Given the description of an element on the screen output the (x, y) to click on. 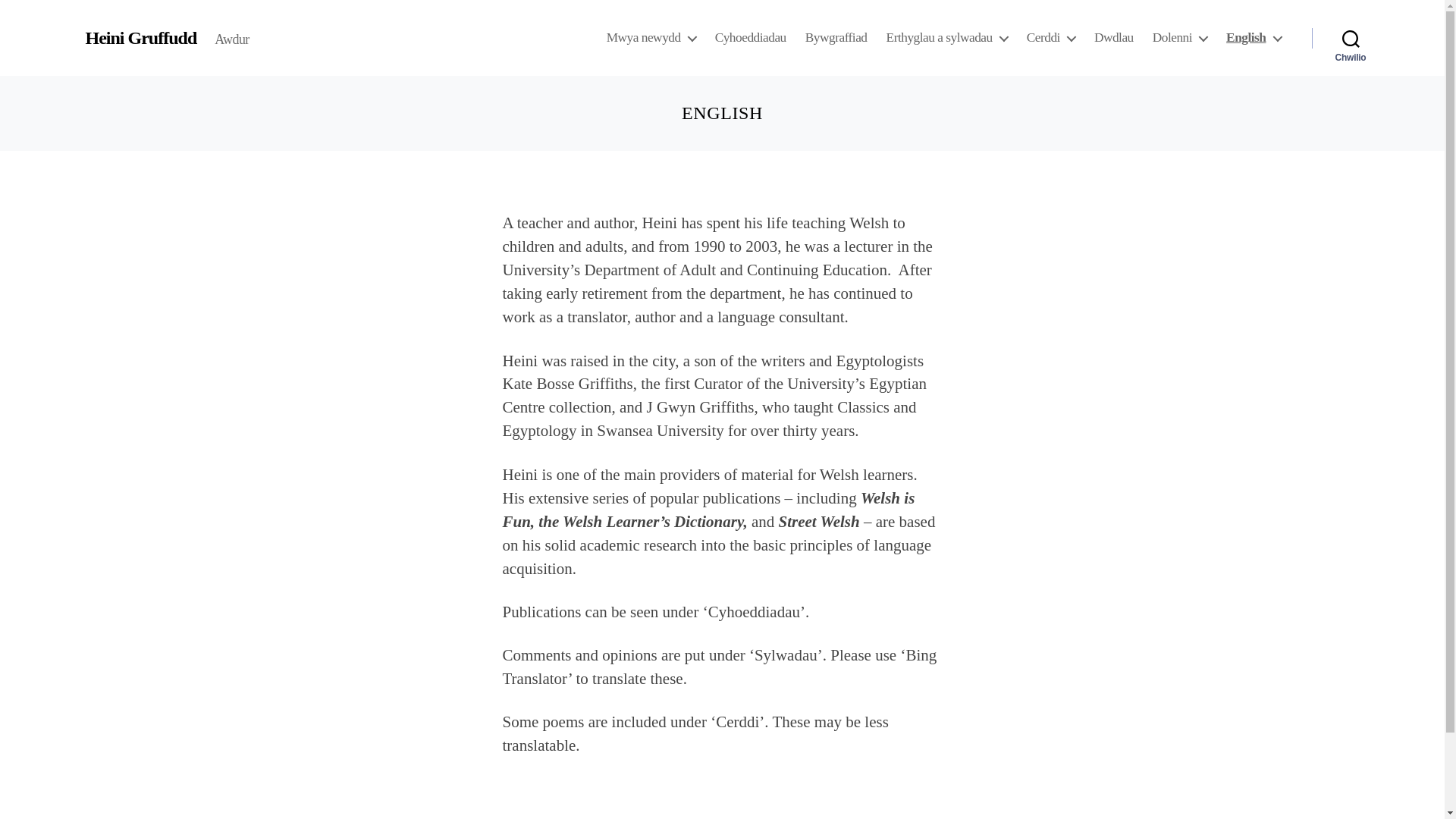
Heini Gruffudd (140, 37)
Mwya newydd (651, 37)
Cerddi (1050, 37)
Cyhoeddiadau (750, 37)
Erthyglau a sylwadau (946, 37)
Bywgraffiad (836, 37)
